Given the description of an element on the screen output the (x, y) to click on. 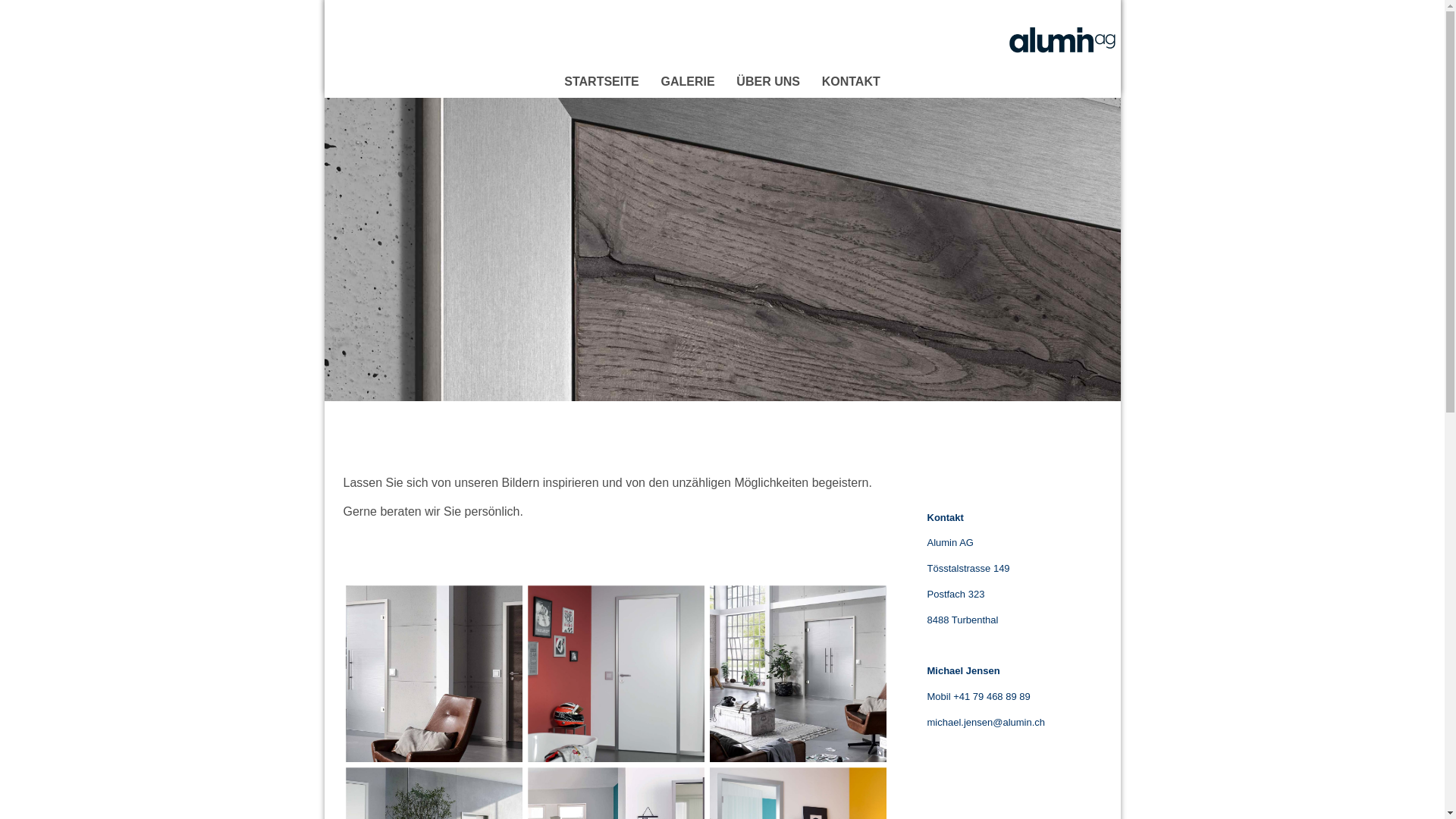
KONTAKT Element type: text (850, 81)
STARTSEITE Element type: text (601, 81)
GALERIE Element type: text (687, 81)
  Element type: text (1063, 6)
